Given the description of an element on the screen output the (x, y) to click on. 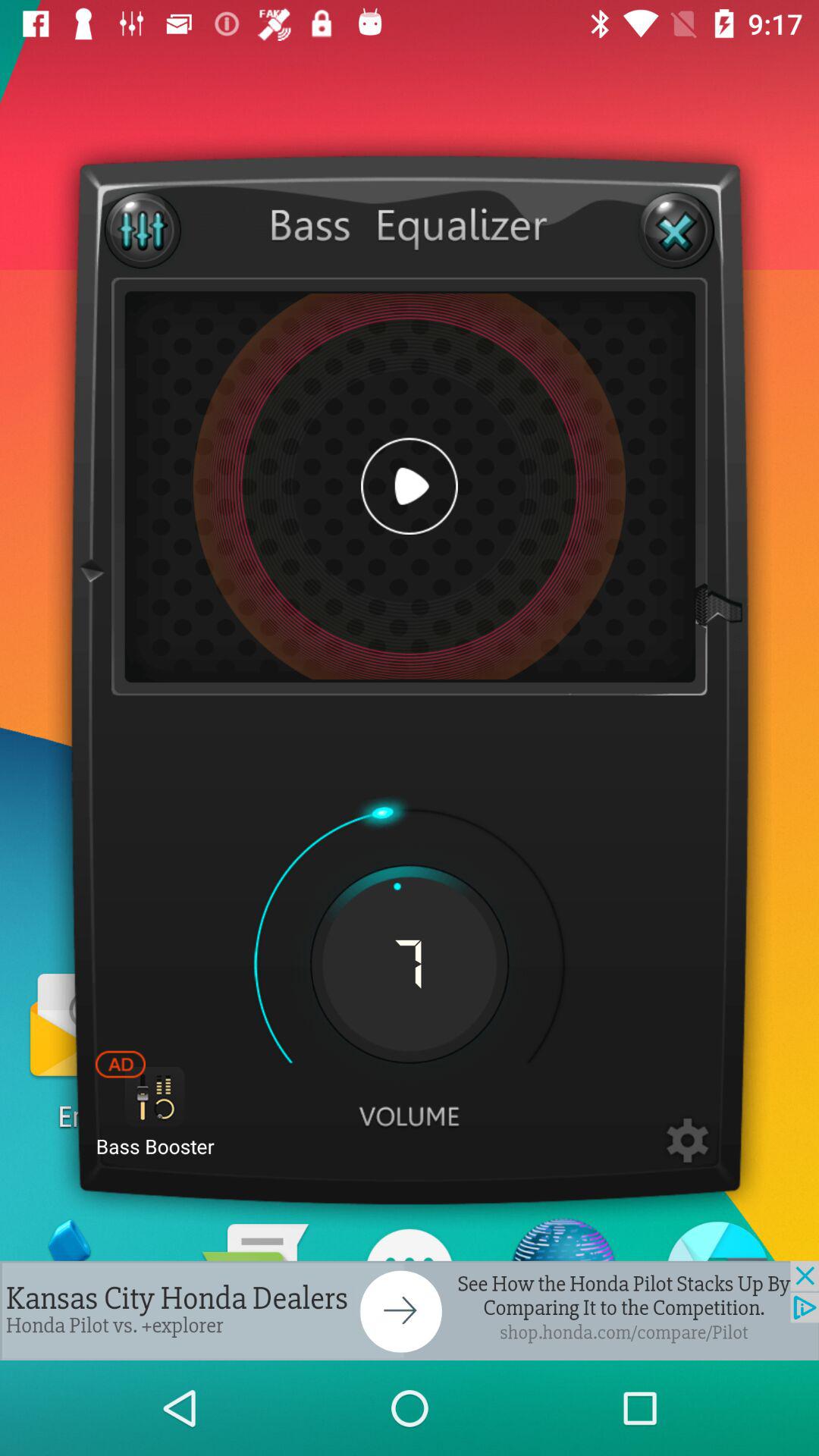
equalize audio (142, 230)
